Given the description of an element on the screen output the (x, y) to click on. 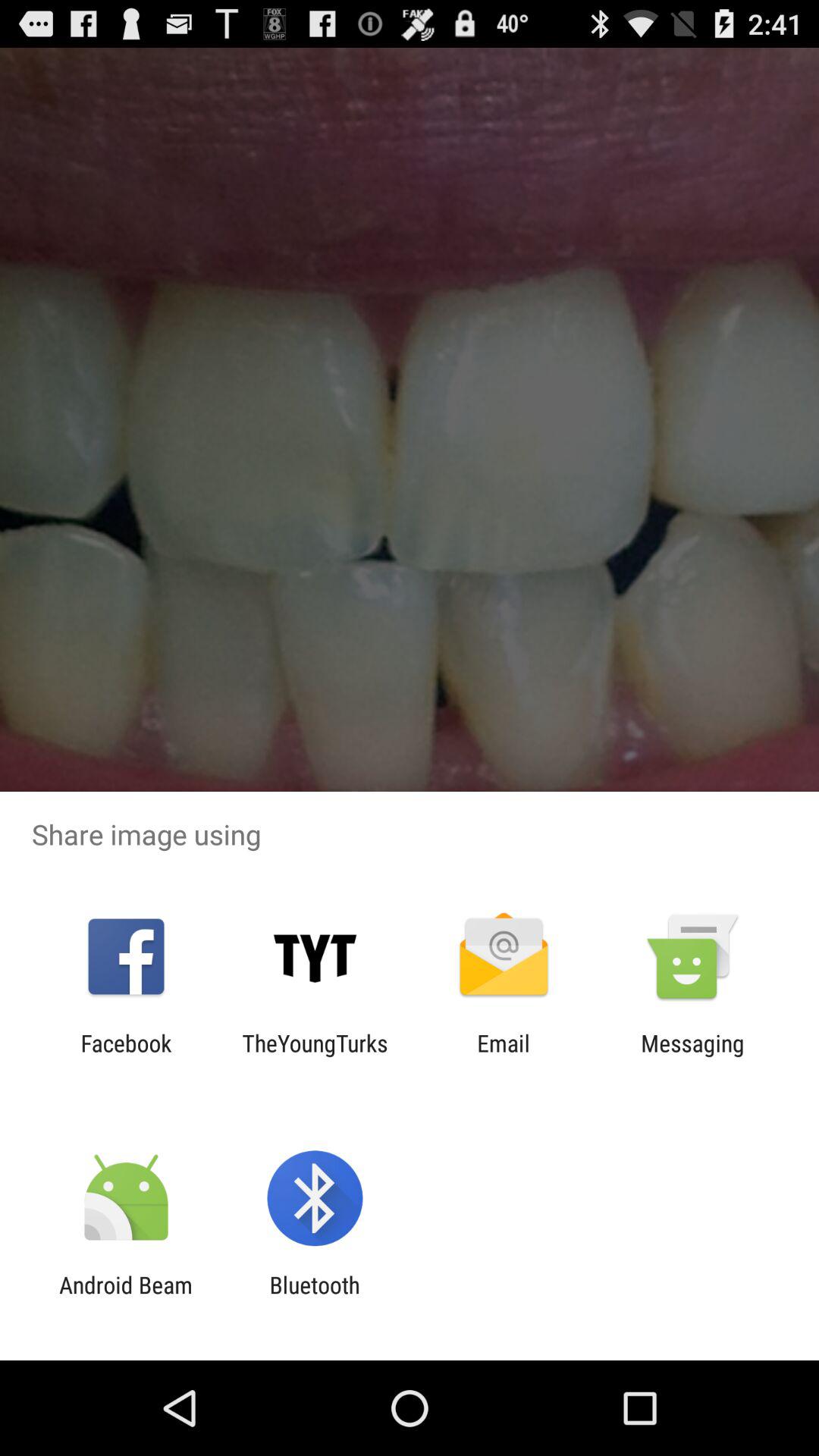
scroll to theyoungturks icon (314, 1056)
